Given the description of an element on the screen output the (x, y) to click on. 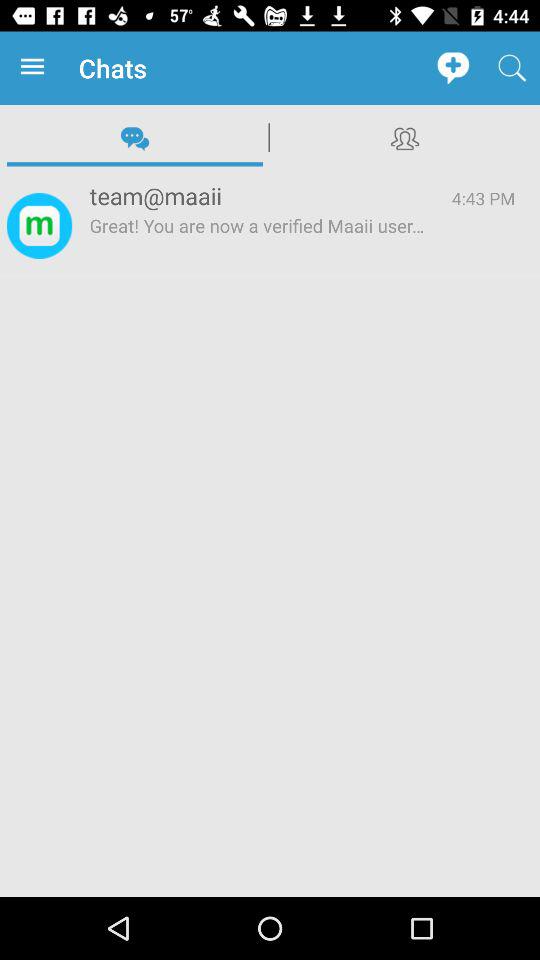
select item to the left of the team@maaii item (39, 225)
